Given the description of an element on the screen output the (x, y) to click on. 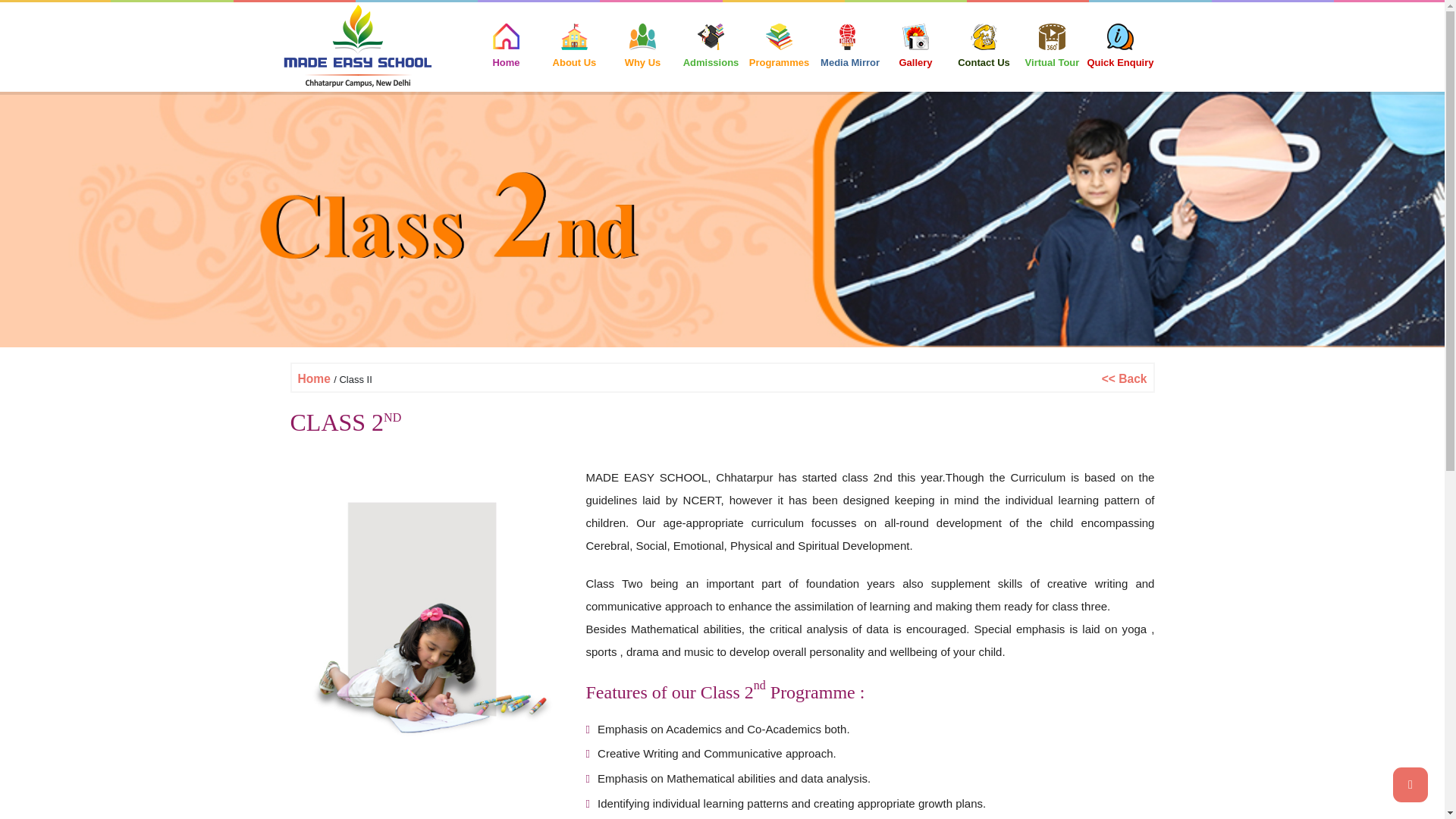
Home (315, 378)
